Given the description of an element on the screen output the (x, y) to click on. 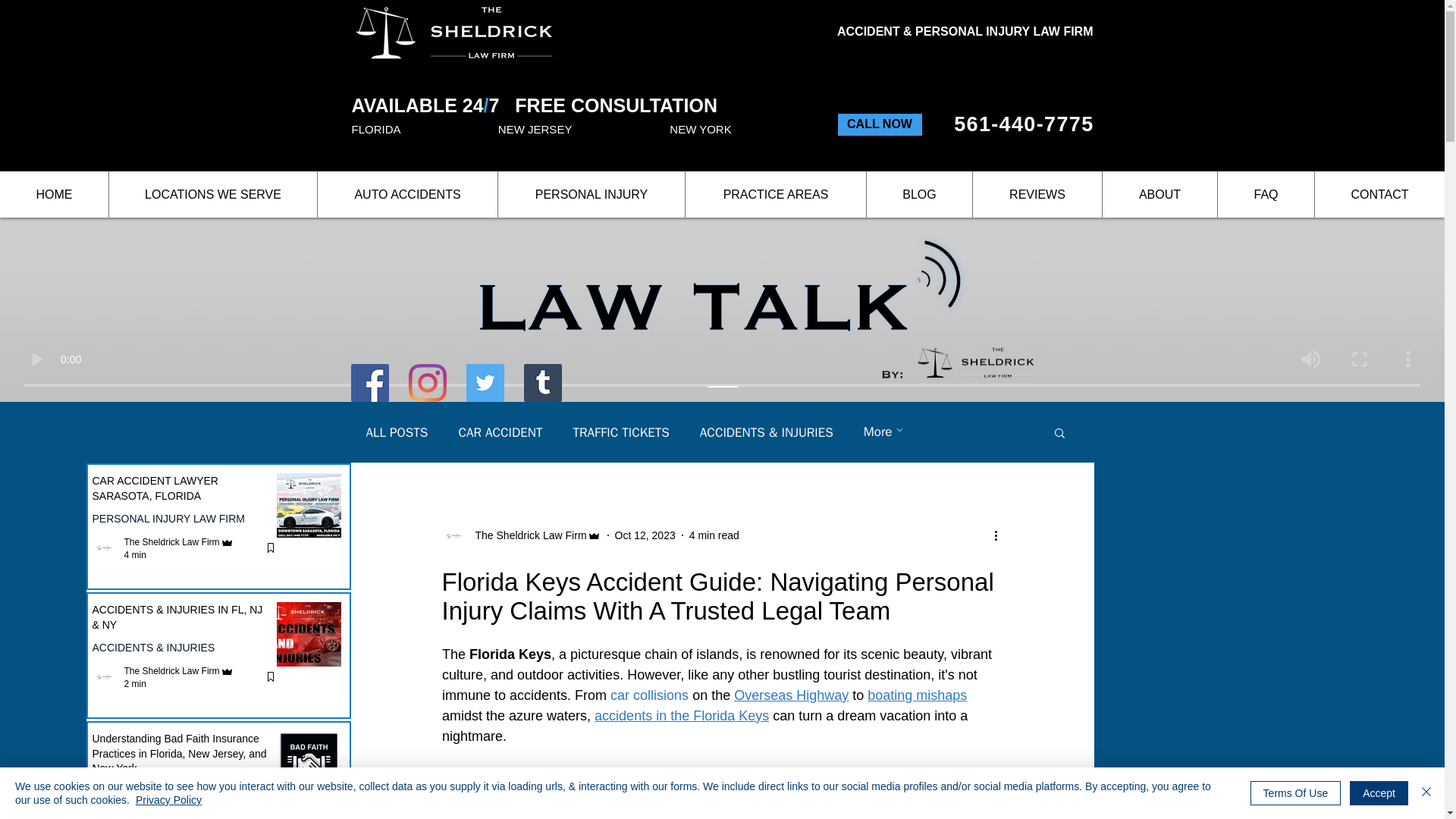
HOME (53, 194)
REVIEWS (1037, 194)
Law Talk - The Sheldrick Law Firms law blog. (756, 306)
The Sheldrick Law Firm (171, 814)
4 min (135, 554)
LOCATIONS WE SERVE (212, 194)
FAQ (1265, 194)
CALL NOW (879, 124)
ABOUT (1159, 194)
CAR ACCIDENT LAWYER SARASOTA, FLORIDA (183, 491)
The Sheldrick Law Firm (171, 670)
BLOG (919, 194)
The Sheldrick Law Firm (171, 542)
PRACTICE AREAS (775, 194)
2 min (135, 683)
